Given the description of an element on the screen output the (x, y) to click on. 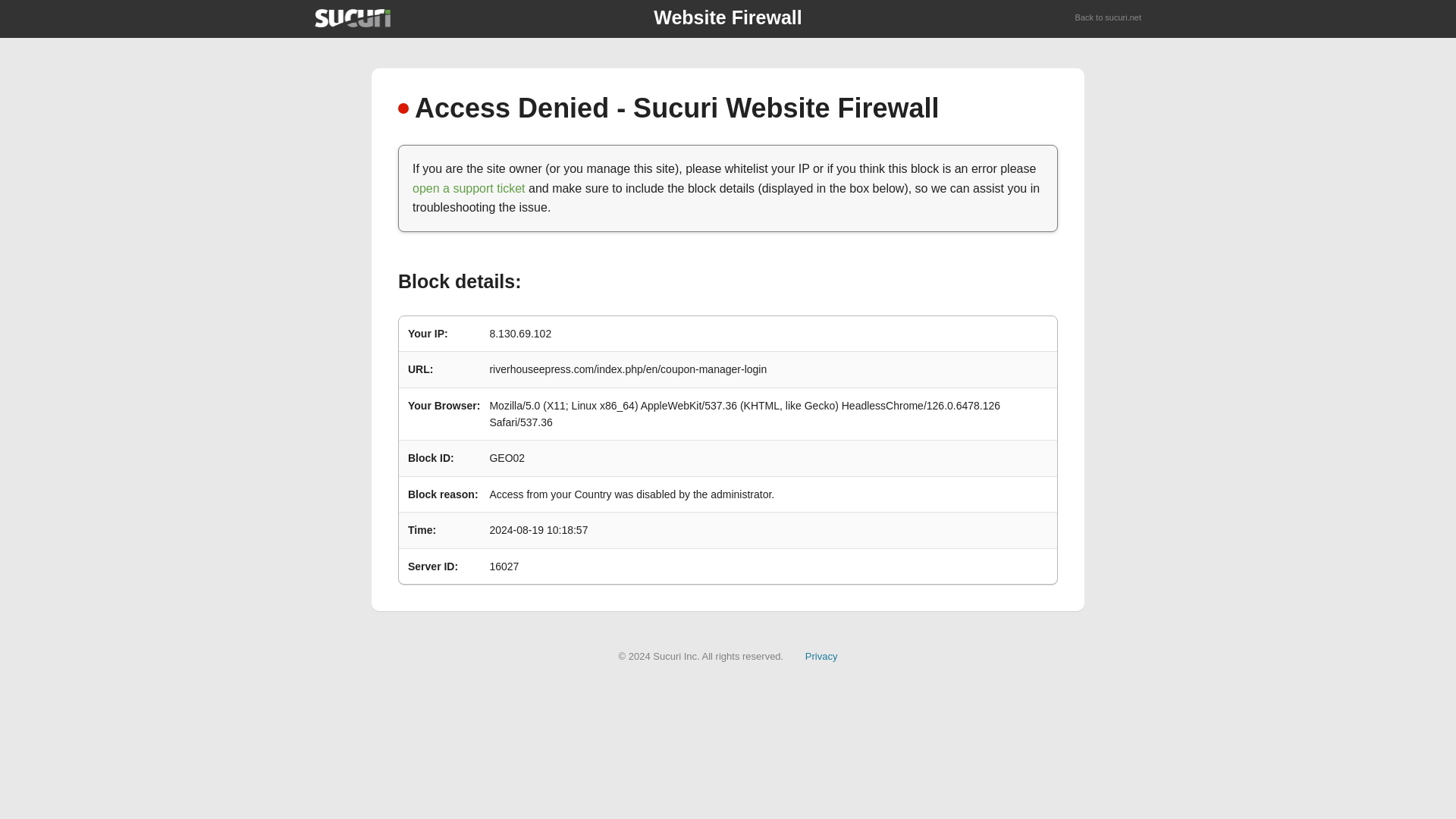
Privacy (821, 655)
Back to sucuri.net (1108, 18)
open a support ticket (468, 187)
